Given the description of an element on the screen output the (x, y) to click on. 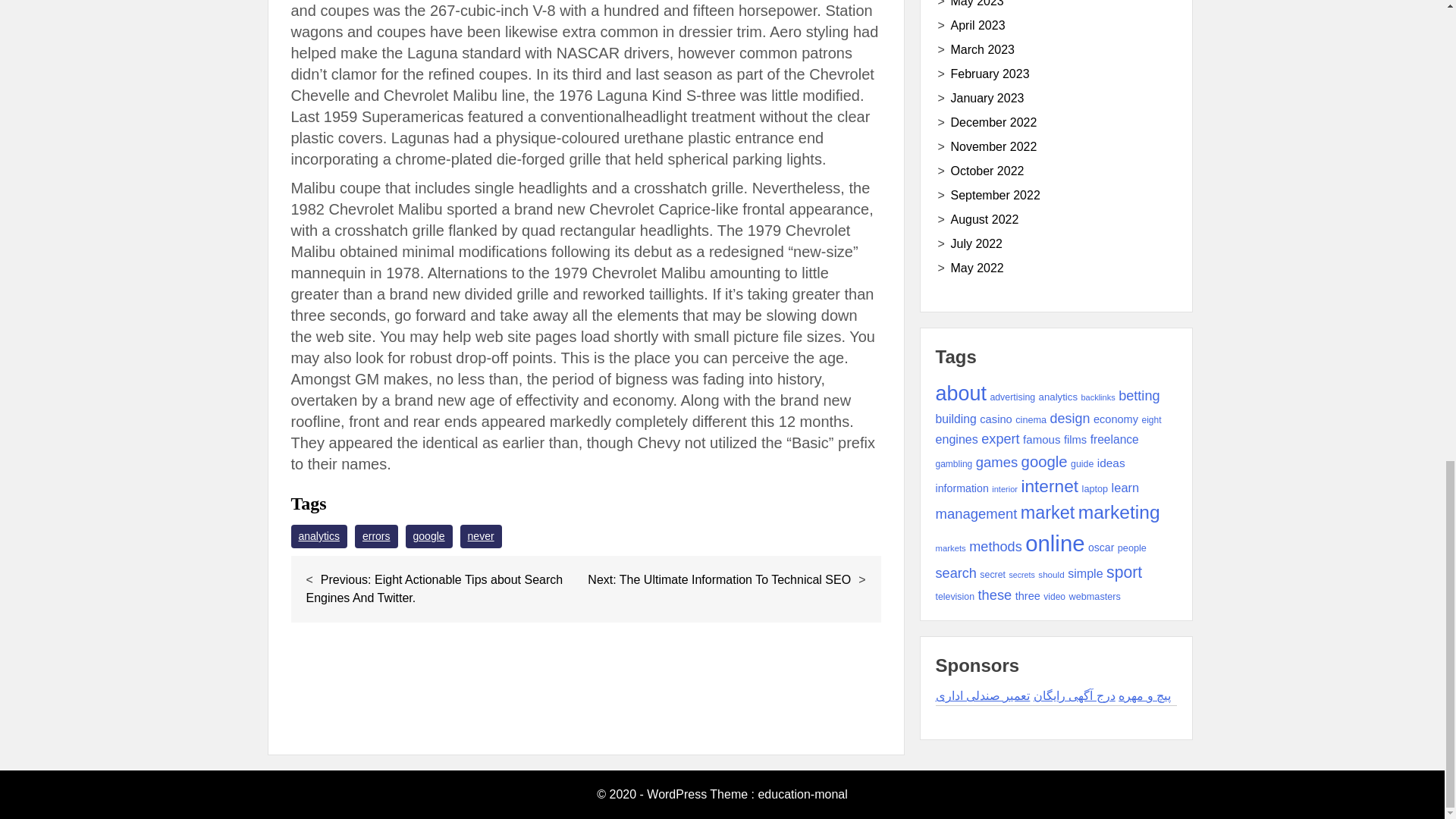
Next: The Ultimate Information To Technical SEO (719, 579)
never (481, 535)
google (429, 535)
errors (376, 535)
analytics (319, 535)
